Given the description of an element on the screen output the (x, y) to click on. 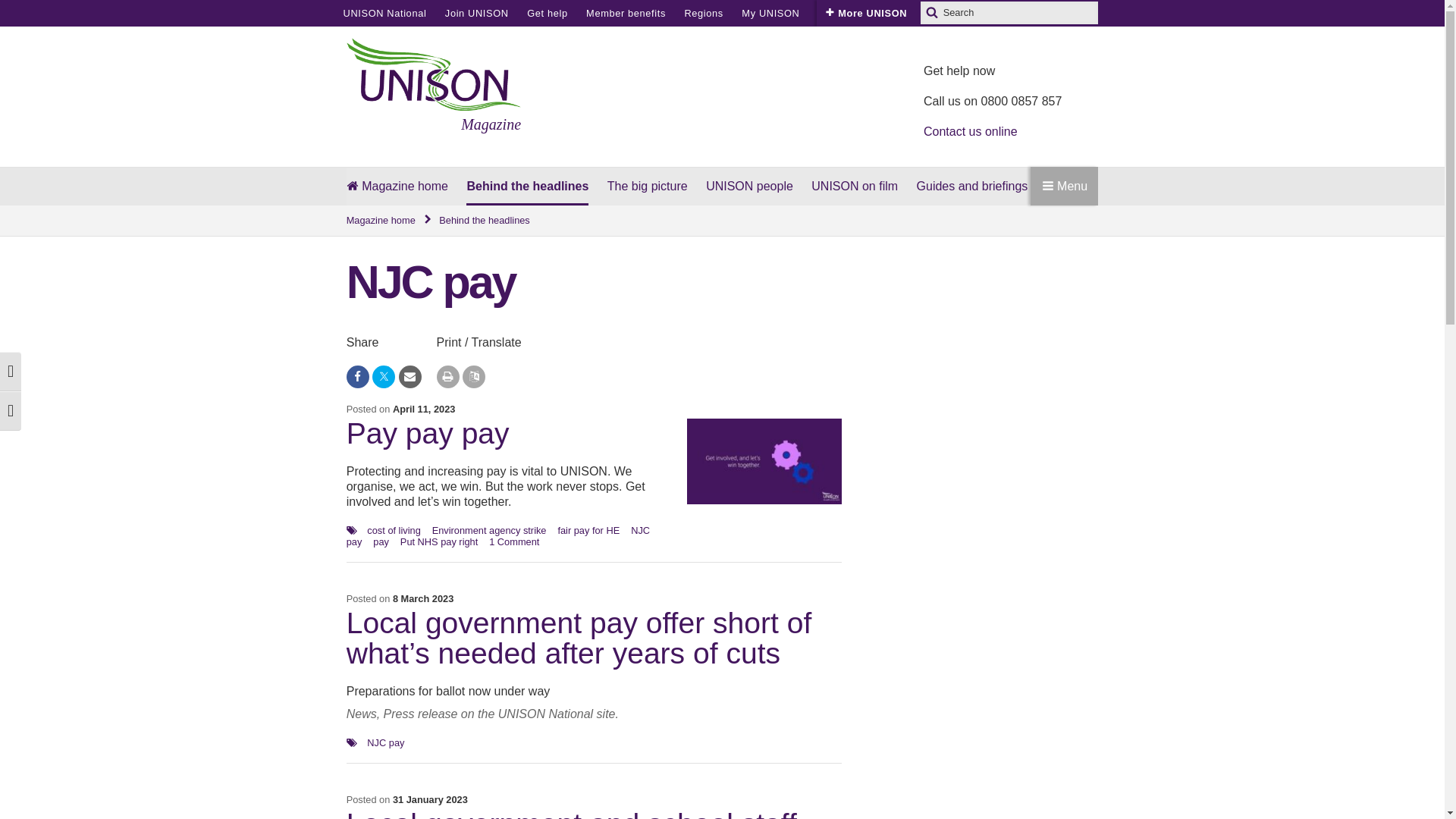
Print page (448, 376)
Magazine home (397, 186)
Get help (547, 13)
Search for: (1009, 12)
Search (931, 12)
Behind the headlines (526, 186)
Menu (1063, 186)
Other sites (844, 13)
Translate page (473, 376)
Regions (703, 13)
More UNISON (865, 13)
Behind the headlines (484, 220)
Magazine home (389, 220)
